Given the description of an element on the screen output the (x, y) to click on. 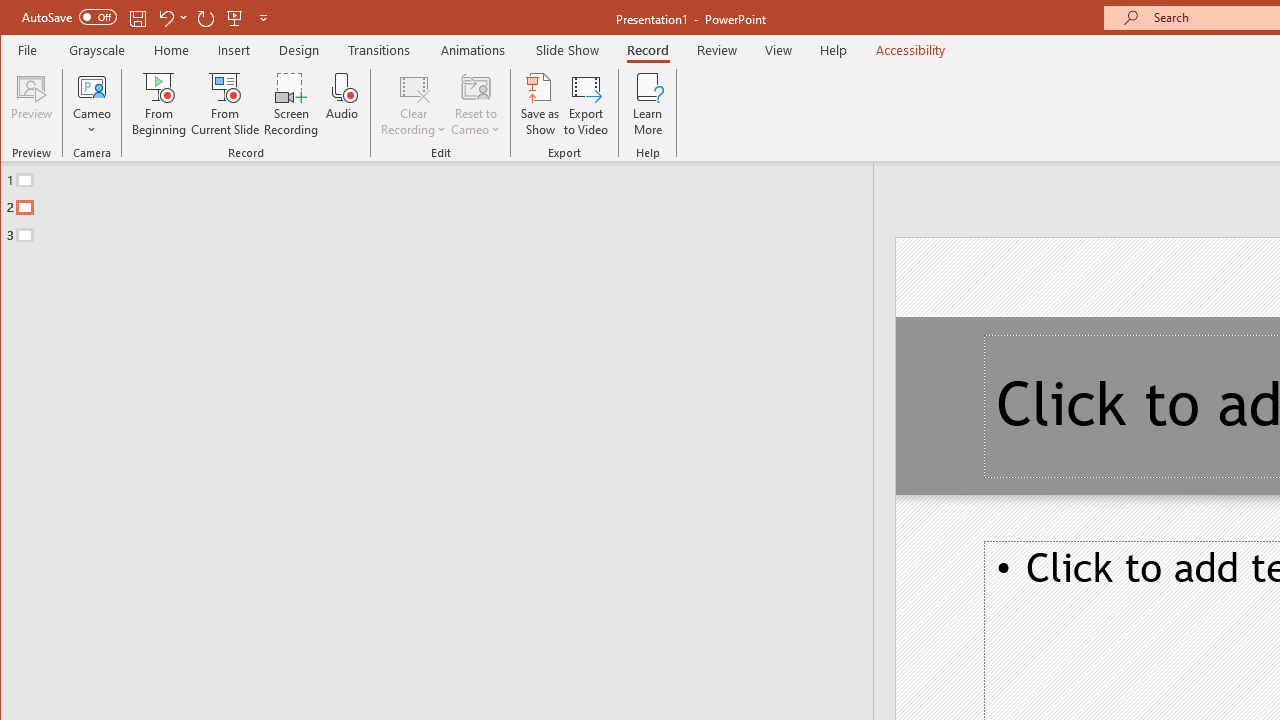
From Current Slide... (225, 104)
